Given the description of an element on the screen output the (x, y) to click on. 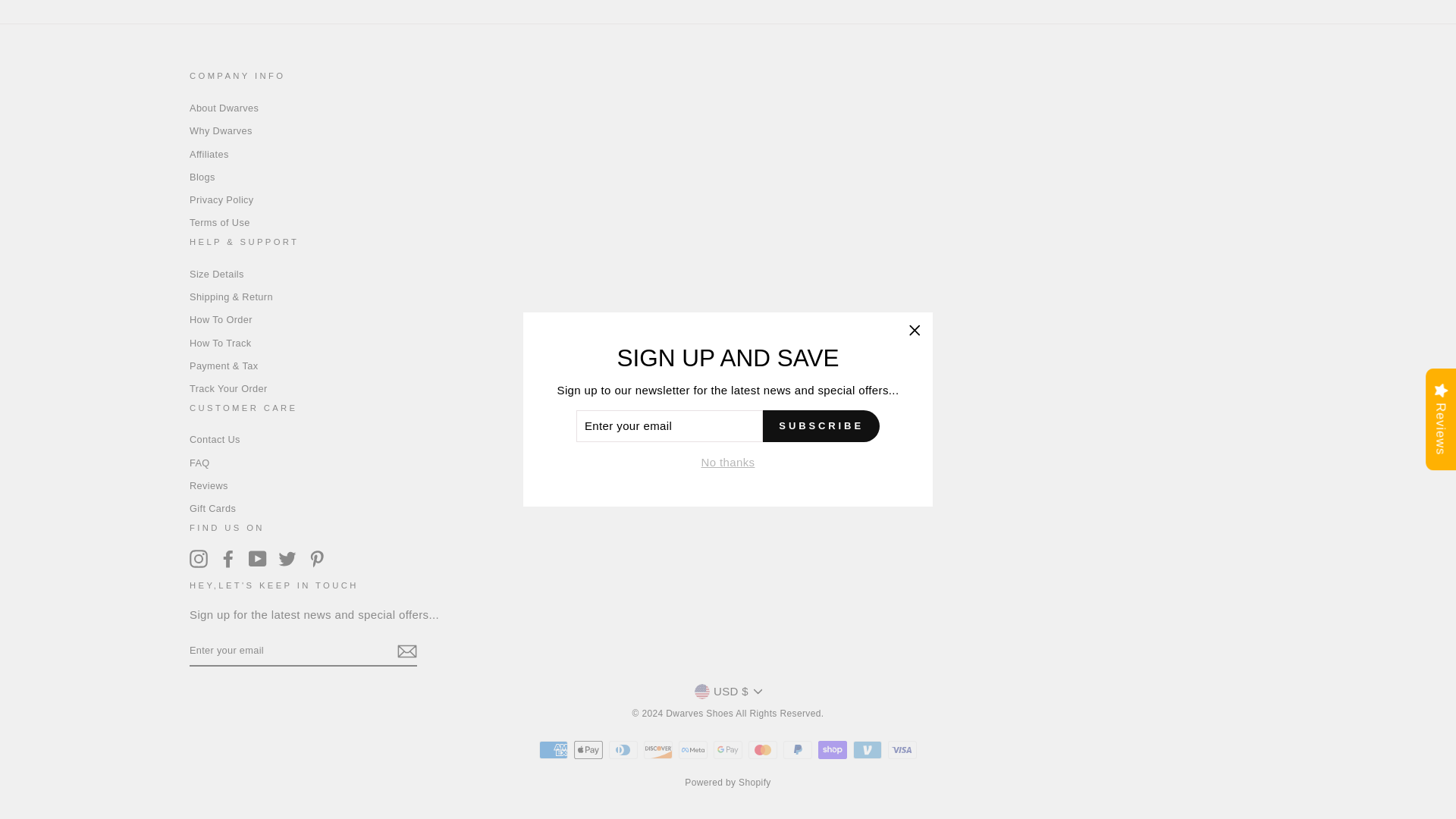
Discover (657, 750)
American Express (552, 750)
Mastercard (762, 750)
Apple Pay (587, 750)
Google Pay (727, 750)
Meta Pay (692, 750)
Diners Club (622, 750)
